Given the description of an element on the screen output the (x, y) to click on. 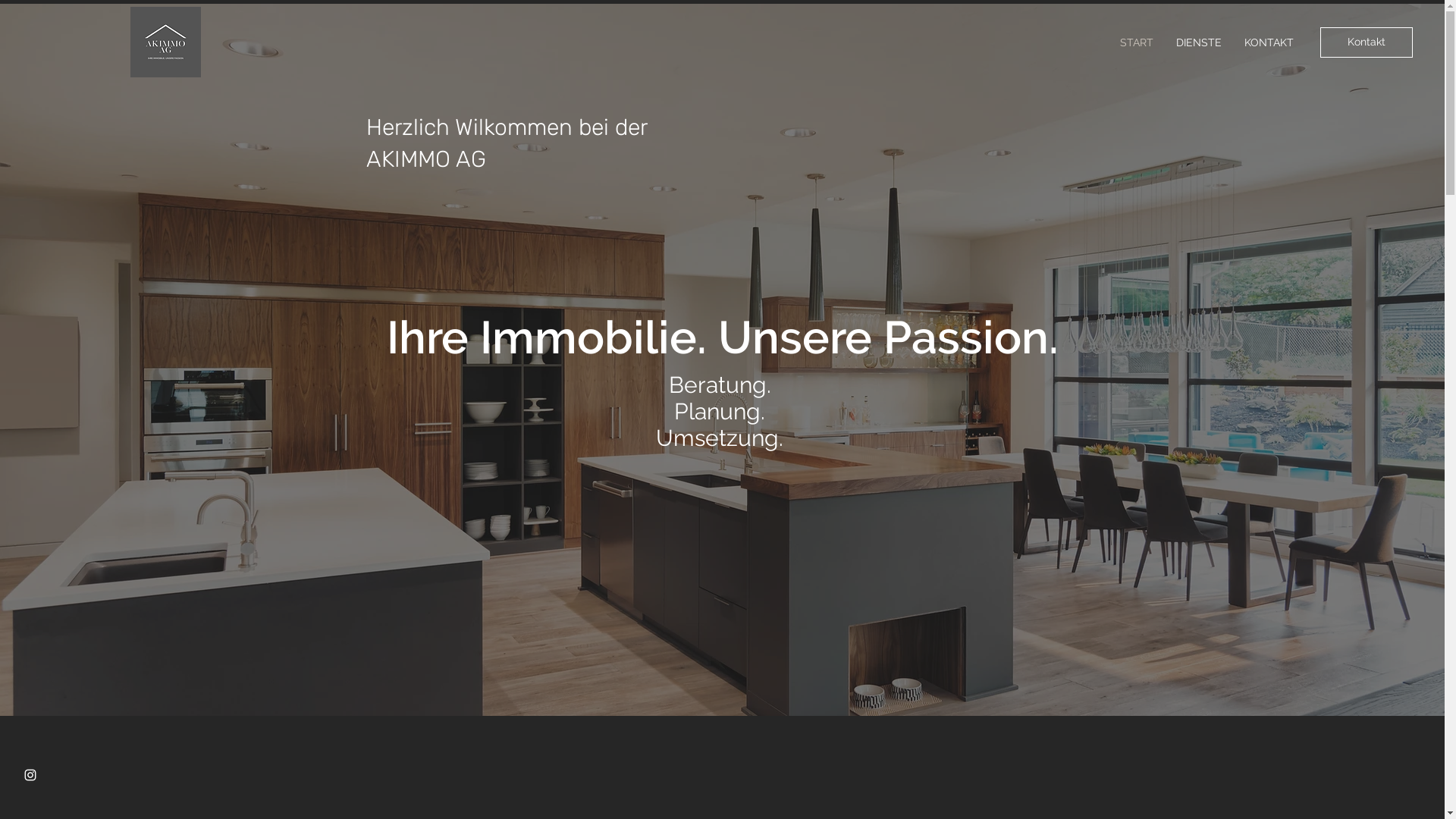
Kontakt Element type: text (1366, 42)
KONTAKT Element type: text (1269, 42)
DIENSTE Element type: text (1198, 42)
Grey Modern Minimalist Elegant Typhography Logo.png Element type: hover (165, 41)
START Element type: text (1136, 42)
